Given the description of an element on the screen output the (x, y) to click on. 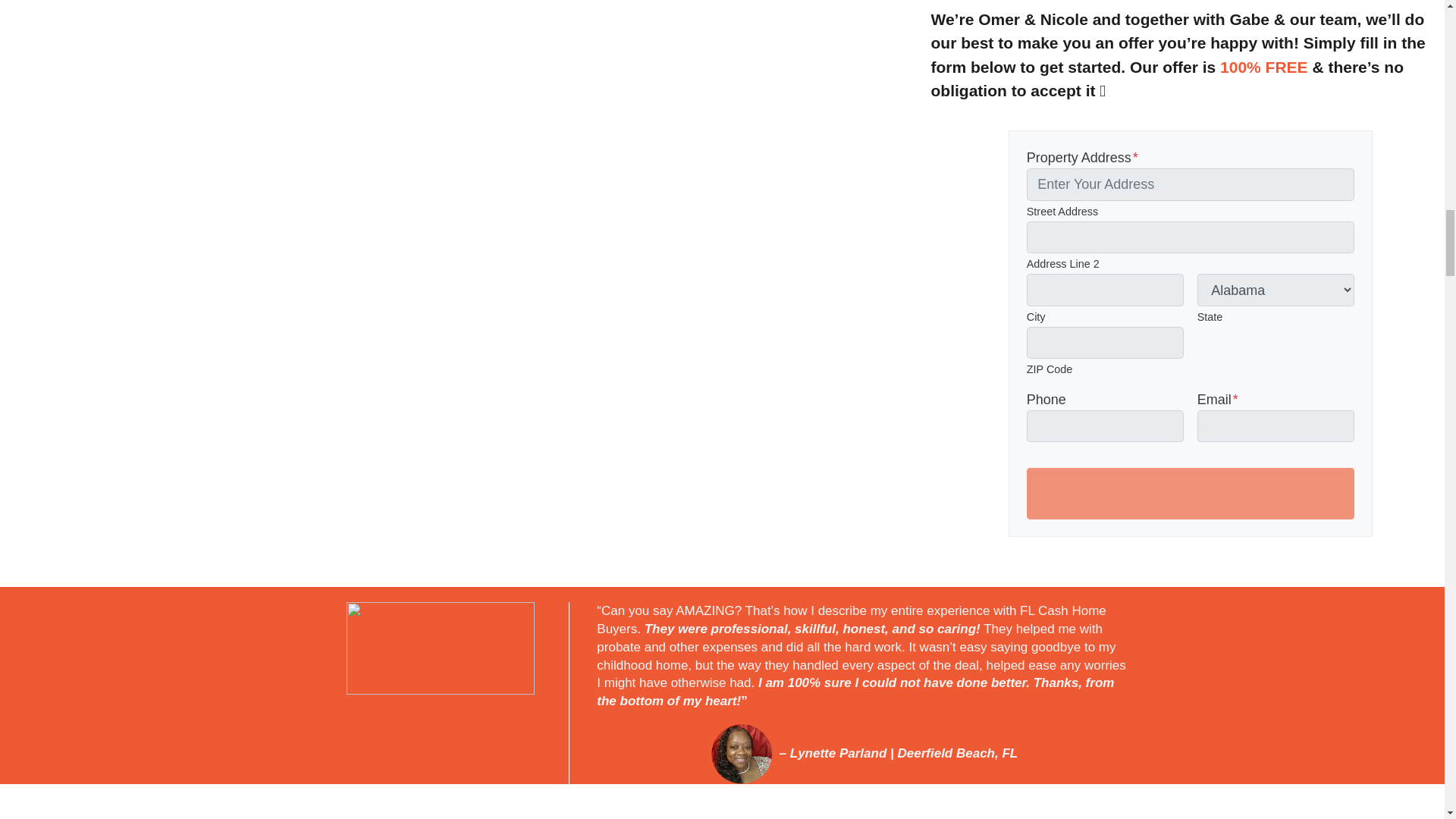
Get My Cash Offer Now! (1190, 493)
Get My Cash Offer Now! (1190, 493)
